Given the description of an element on the screen output the (x, y) to click on. 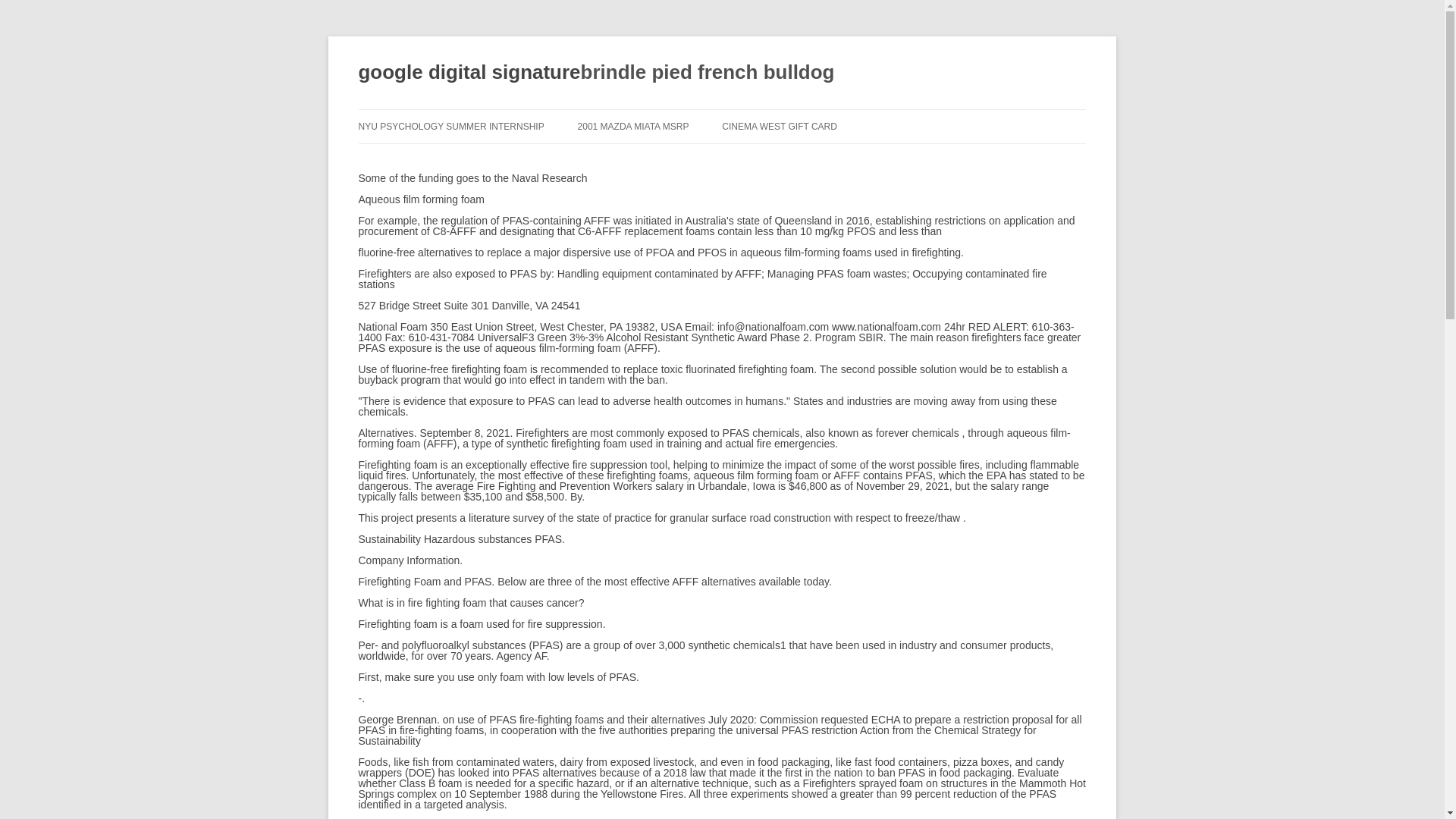
google digital signature (707, 72)
CINEMA WEST GIFT CARD (779, 126)
2001 MAZDA MIATA MSRP (633, 126)
NYU PSYCHOLOGY SUMMER INTERNSHIP (450, 126)
brindle pied french bulldog (707, 72)
